Given the description of an element on the screen output the (x, y) to click on. 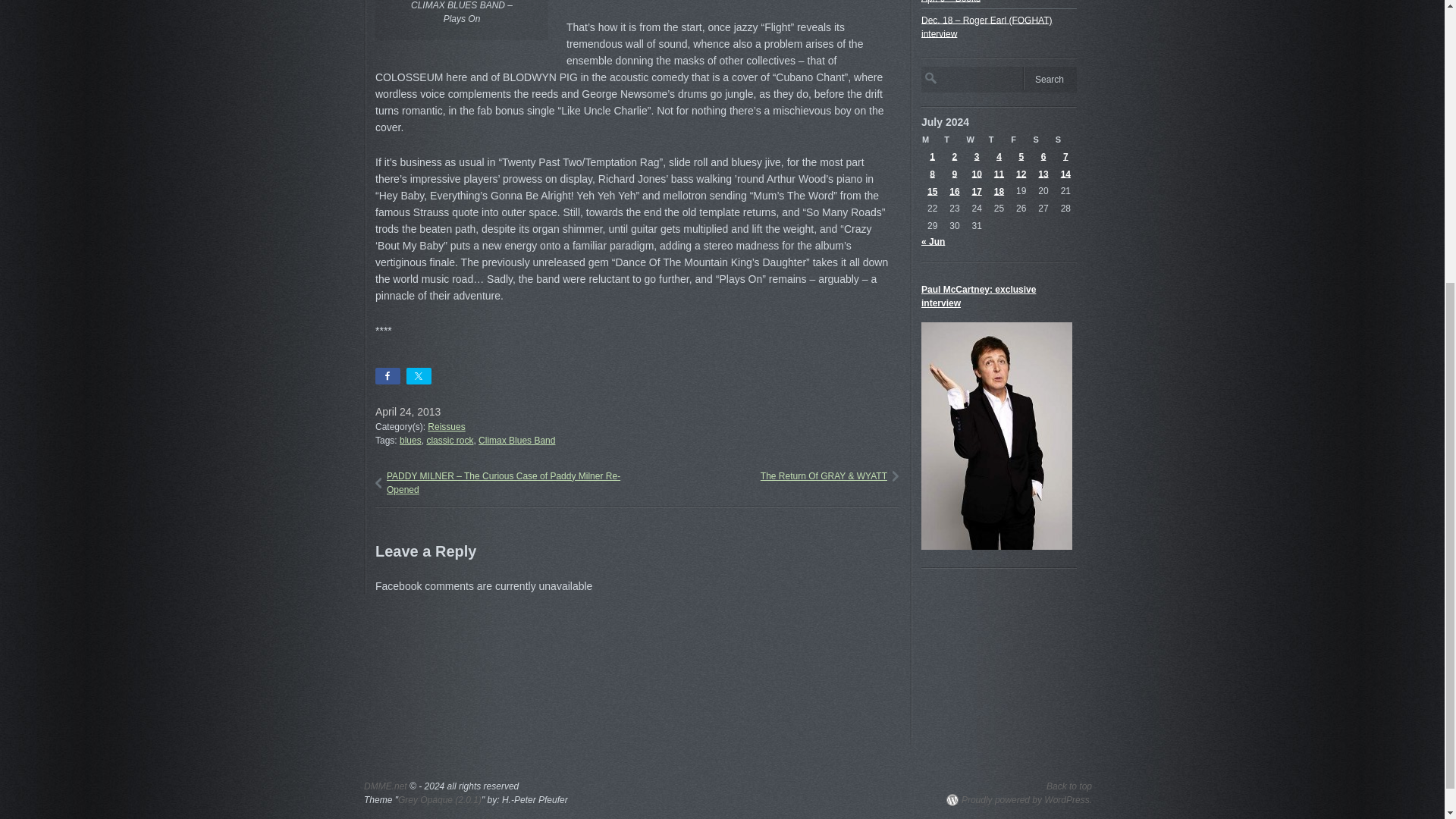
Semantic Personal Publishing Platform (1019, 799)
DMME.net (385, 786)
Sunday (1065, 139)
Share on Twitter (418, 375)
Tuesday (954, 139)
Wednesday (977, 139)
Share on Facebook (387, 375)
Climax Blues Band (516, 439)
Search (1049, 78)
Saturday (1043, 139)
Friday (1021, 139)
Reissues (446, 426)
classic rock (449, 439)
blues (410, 439)
Monday (932, 139)
